Given the description of an element on the screen output the (x, y) to click on. 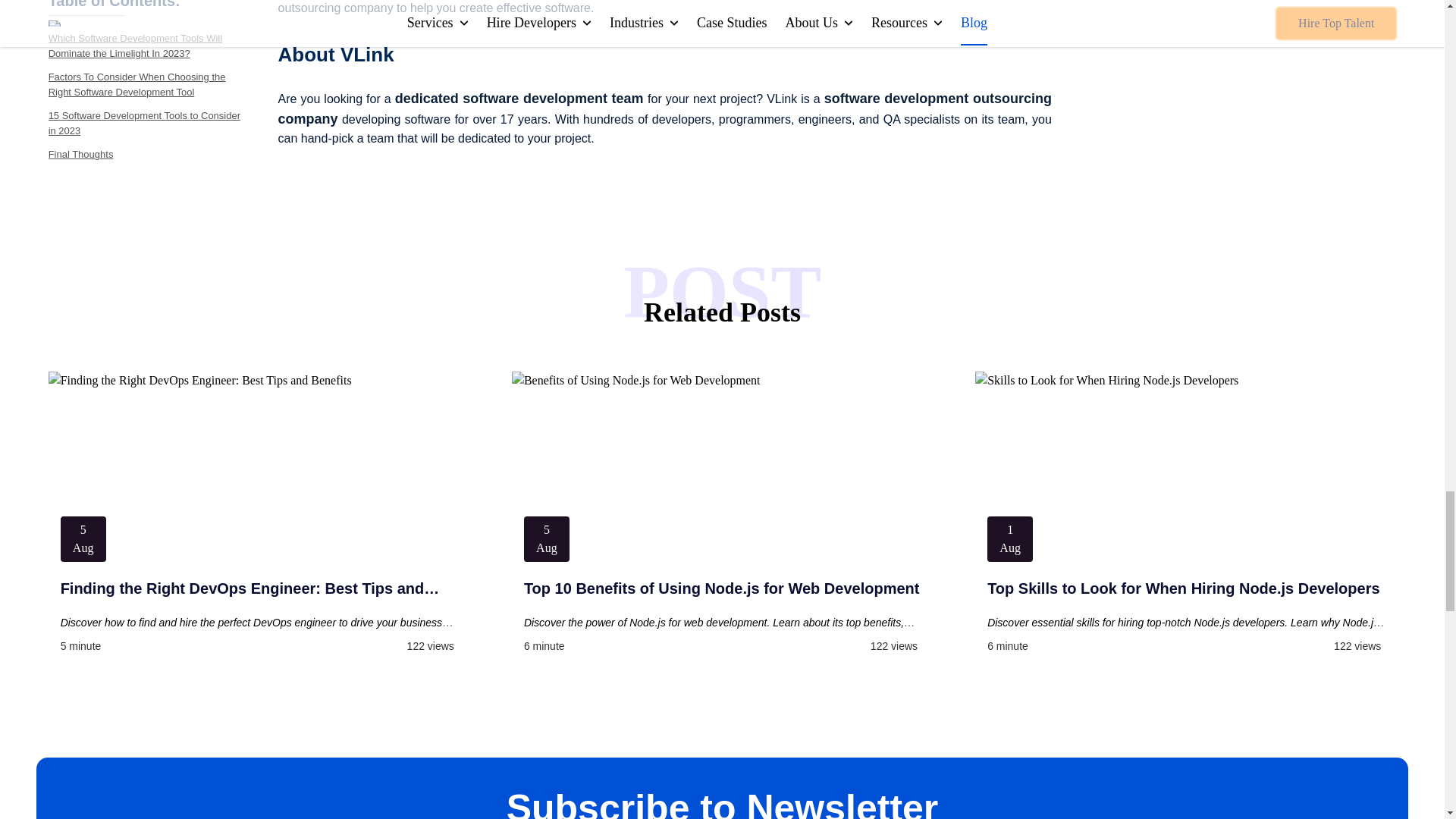
Top 10 Benefits of Using Node.js for Web Development (722, 588)
Top Skills to Look for When Hiring Node.js Developers (1185, 588)
Finding the Right DevOps Engineer: Best Tips and Benefits (259, 588)
